Given the description of an element on the screen output the (x, y) to click on. 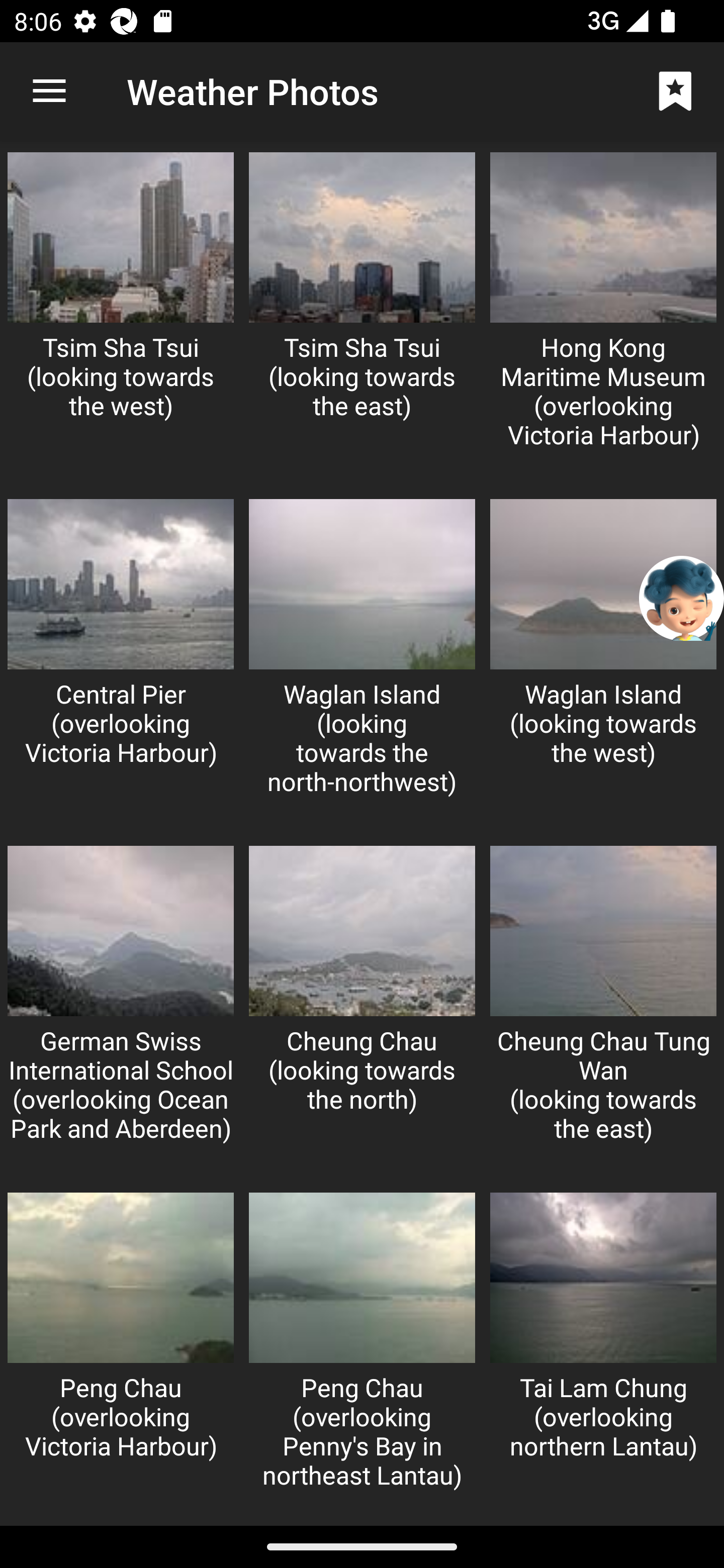
Navigate up (49, 91)
Bookmark added (674, 90)
Tsim Sha Tsui
(looking towards the west) (120, 315)
Tsim Sha Tsui
(looking towards the east) (361, 315)
Central Pier
(overlooking Victoria Harbour) (120, 662)
Waglan Island
(looking towards the west) (603, 662)
Chatbot (681, 598)
Cheung Chau
(looking towards the north) (361, 1009)
Cheung Chau Tung Wan
(looking towards the east) (603, 1009)
Peng Chau
(overlooking Victoria Harbour) (120, 1355)
Tai Lam Chung
(overlooking northern Lantau) (603, 1355)
